Given the description of an element on the screen output the (x, y) to click on. 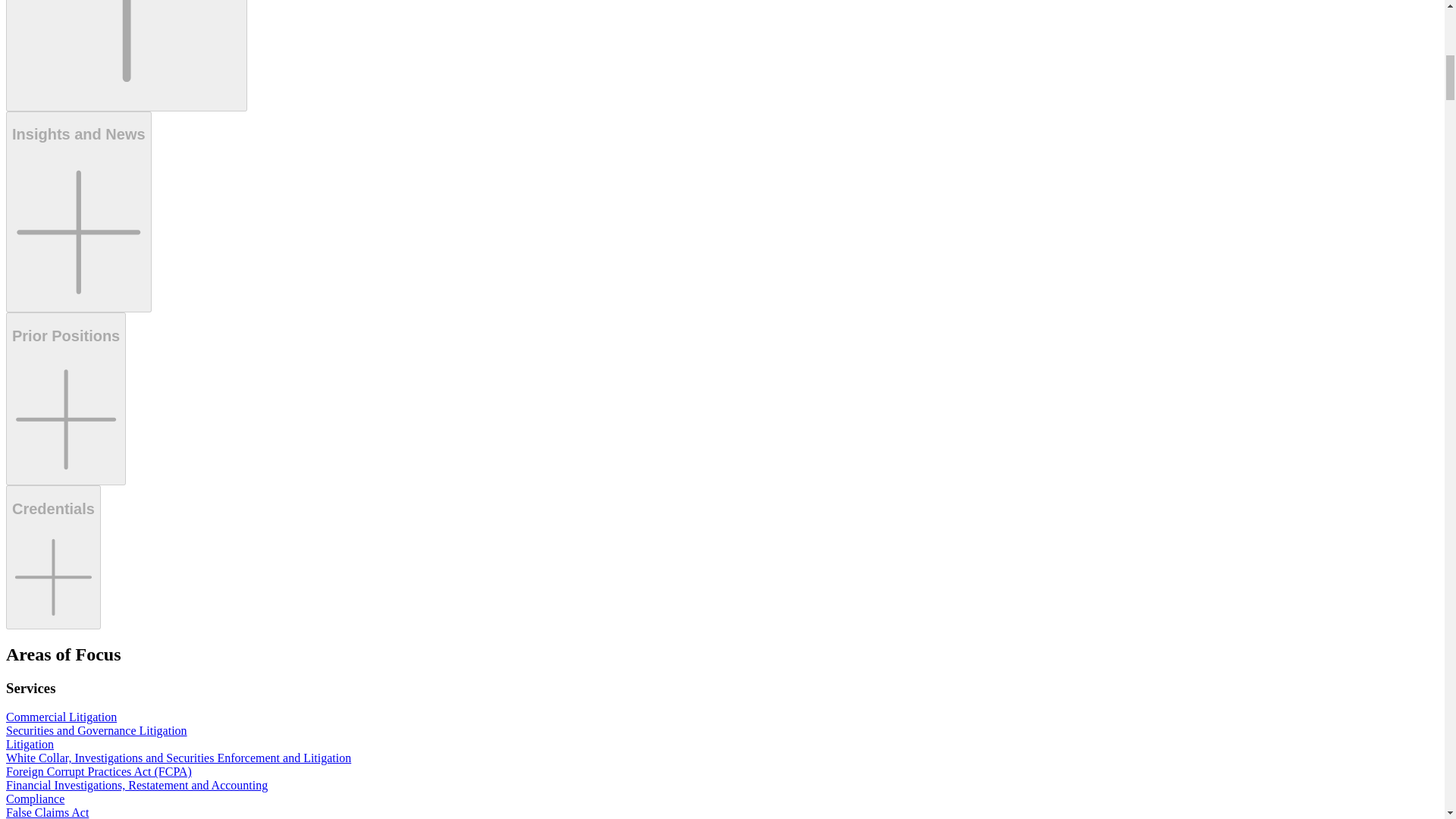
Commercial Litigation (60, 716)
Securities and Governance Litigation (96, 730)
Plus (126, 53)
Compliance (34, 798)
Financial Investigations, Restatement and Accounting (136, 784)
False Claims Act (126, 55)
Litigation (46, 812)
